Given the description of an element on the screen output the (x, y) to click on. 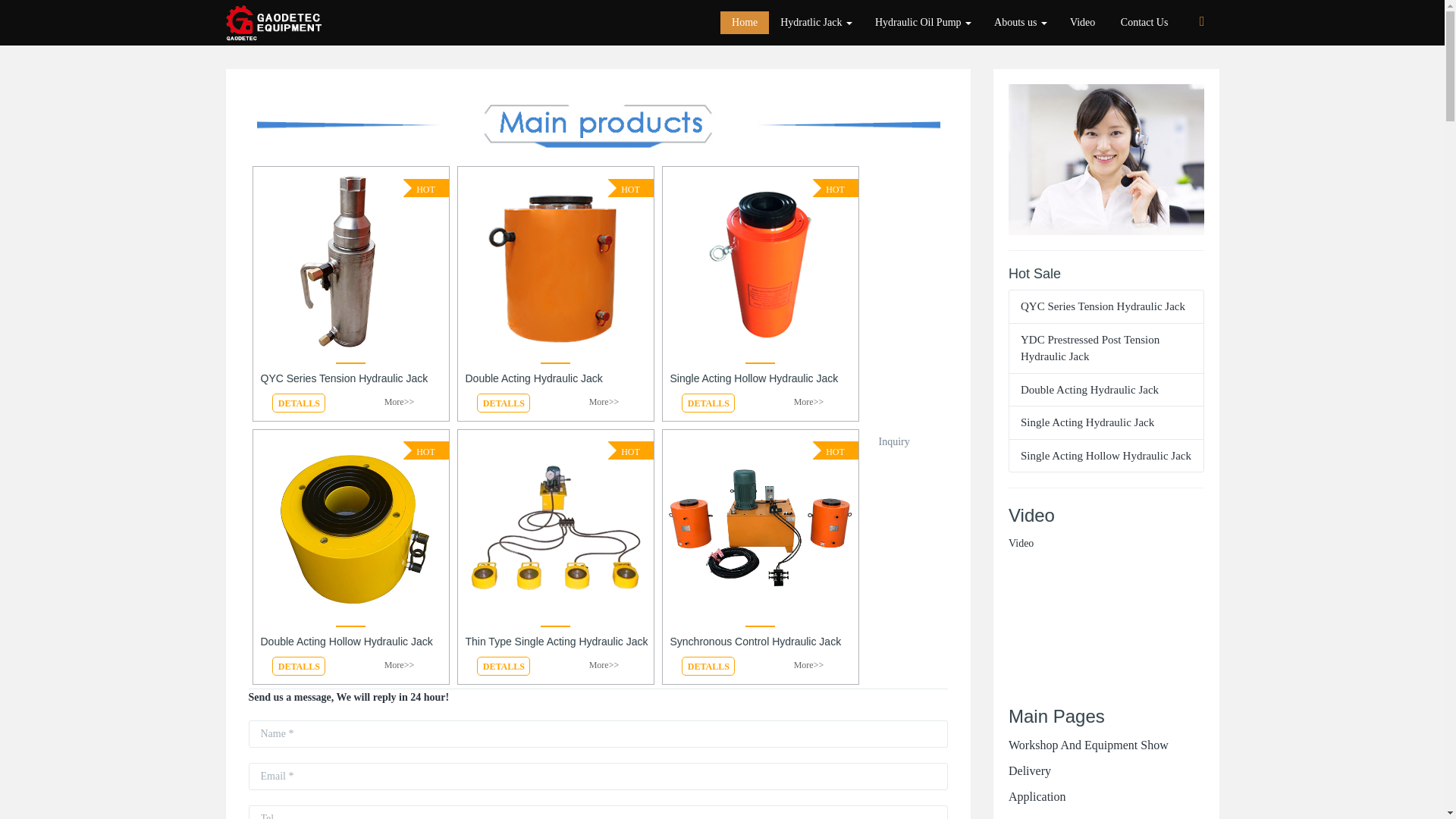
Home (744, 22)
Hydratlic Jack  (815, 22)
Hydraulic Oil Pump  (922, 22)
Water Meter Manufacturer (277, 22)
Home (744, 22)
Abouts us  (1020, 22)
Hydratlic Jack (815, 22)
